Given the description of an element on the screen output the (x, y) to click on. 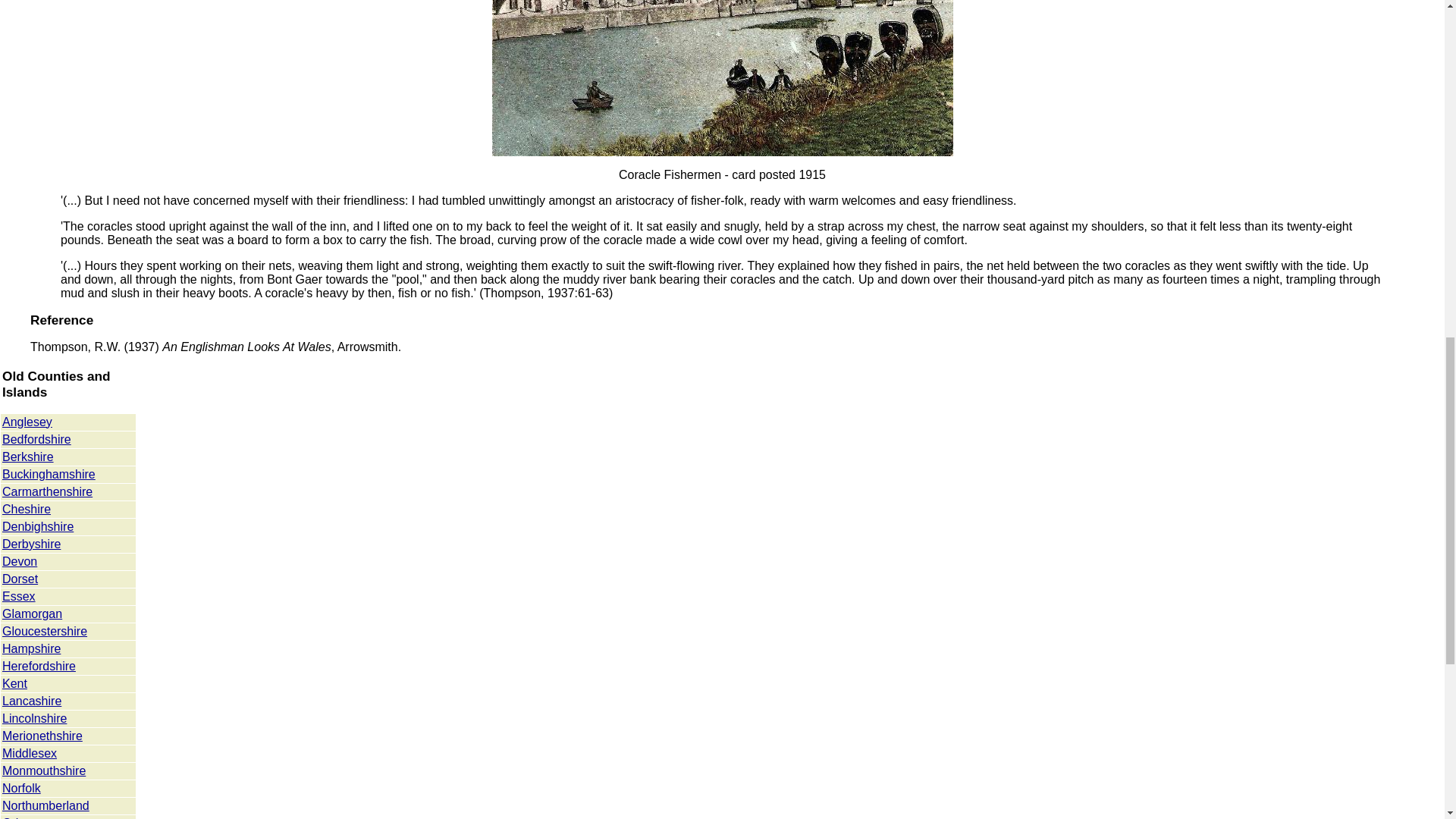
Essex (18, 595)
Bedfordshire (36, 439)
Northumberland (45, 805)
Kent (14, 683)
Lincolnshire (34, 717)
Berkshire (27, 456)
Norfolk (21, 788)
Cheshire (26, 508)
Glamorgan (32, 613)
Hampshire (31, 648)
Carmarthenshire (47, 491)
Gloucestershire (44, 631)
Merionethshire (42, 735)
Derbyshire (31, 543)
Lancashire (31, 700)
